Given the description of an element on the screen output the (x, y) to click on. 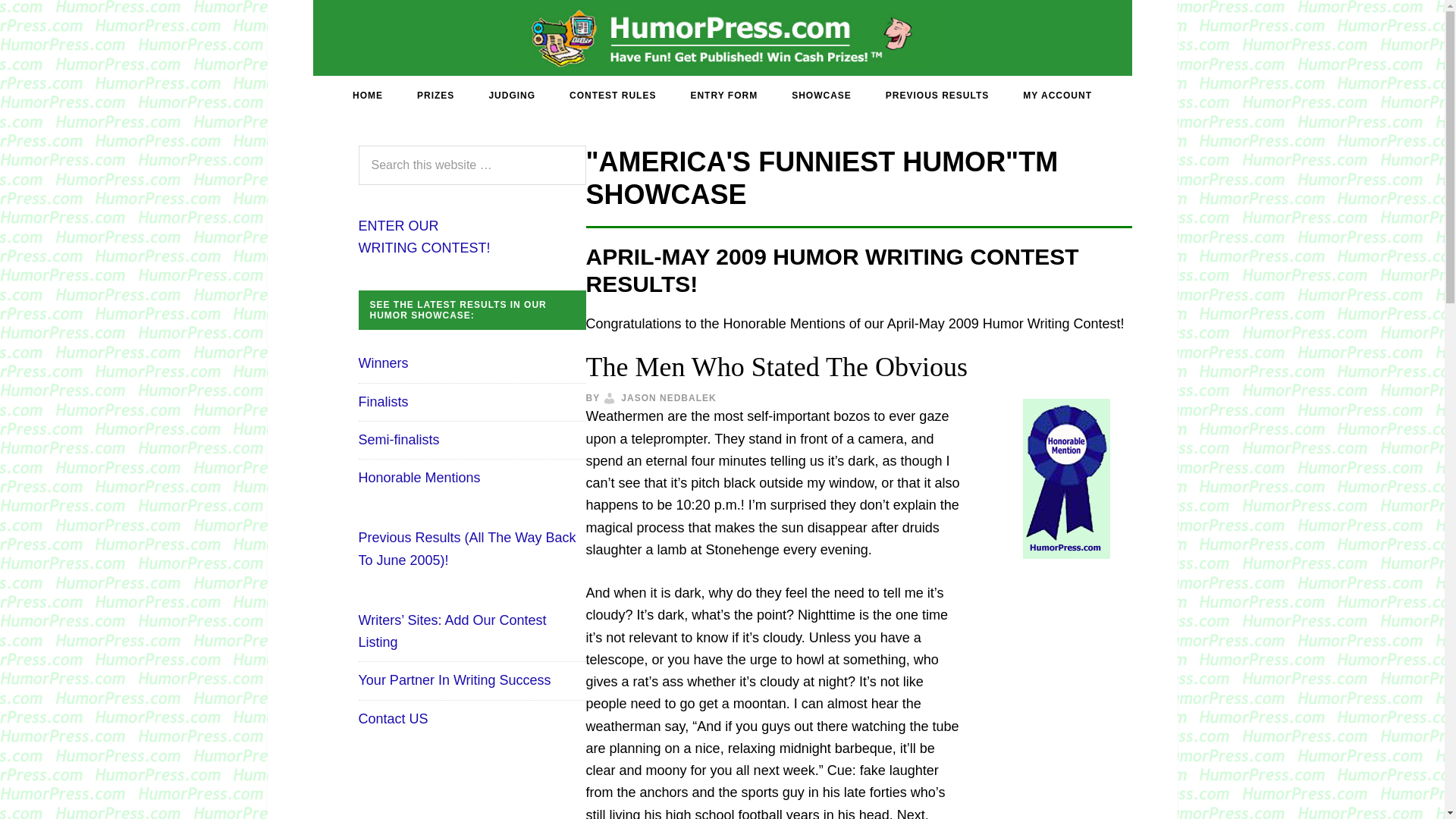
MY ACCOUNT (1056, 95)
Winners (382, 363)
PREVIOUS RESULTS (937, 95)
Semi-finalists (398, 439)
JUDGING (511, 95)
JASON NEDBALEK (668, 398)
ENTRY FORM (724, 95)
HOME (367, 95)
Contact US (393, 718)
